Given the description of an element on the screen output the (x, y) to click on. 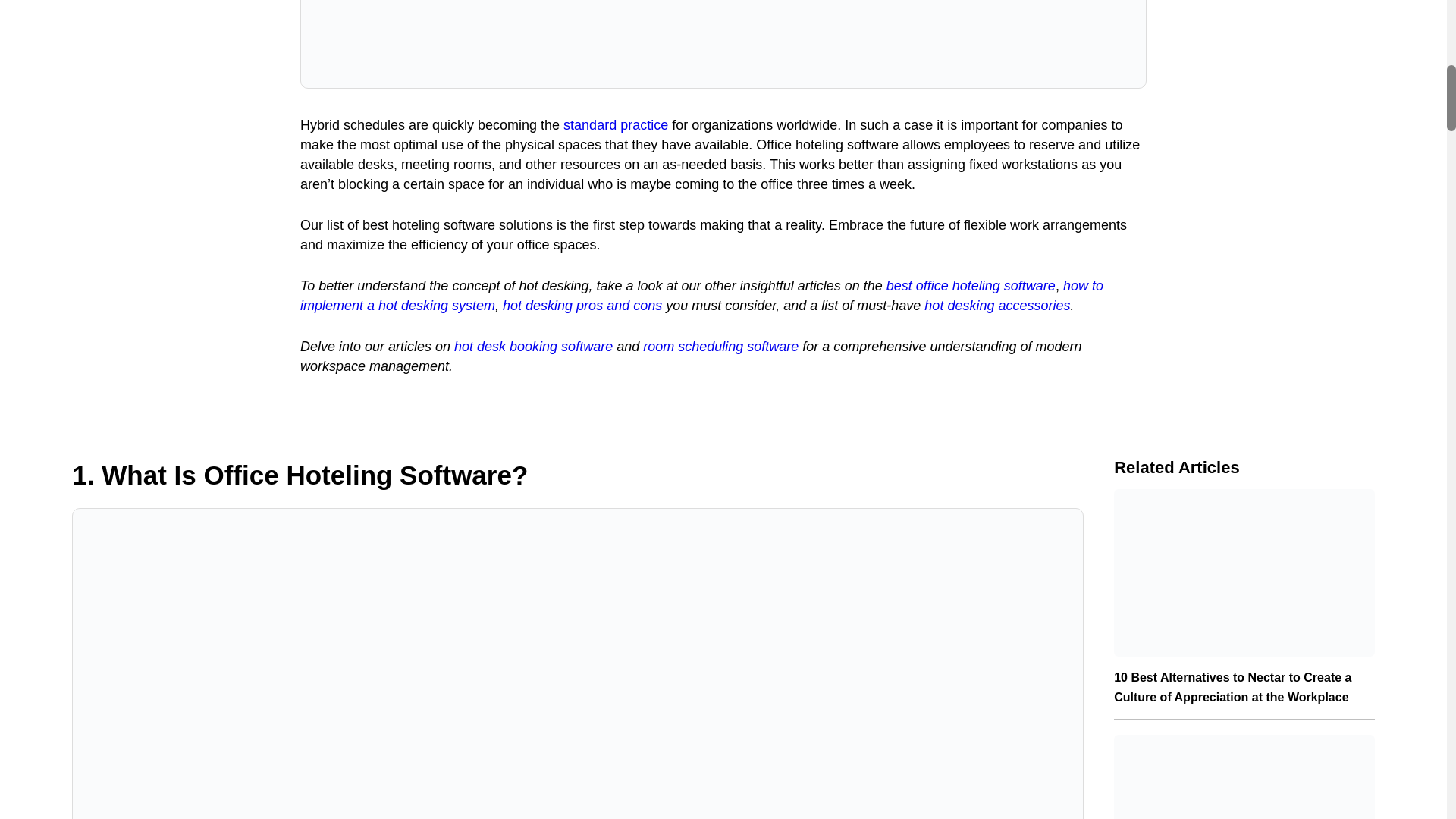
best office hoteling software (970, 285)
how to implement a hot desking system (701, 295)
room scheduling software (720, 346)
standard practice (615, 124)
hot desking accessories (997, 305)
hot desking pros and cons (582, 305)
hot desk booking software (533, 346)
